Given the description of an element on the screen output the (x, y) to click on. 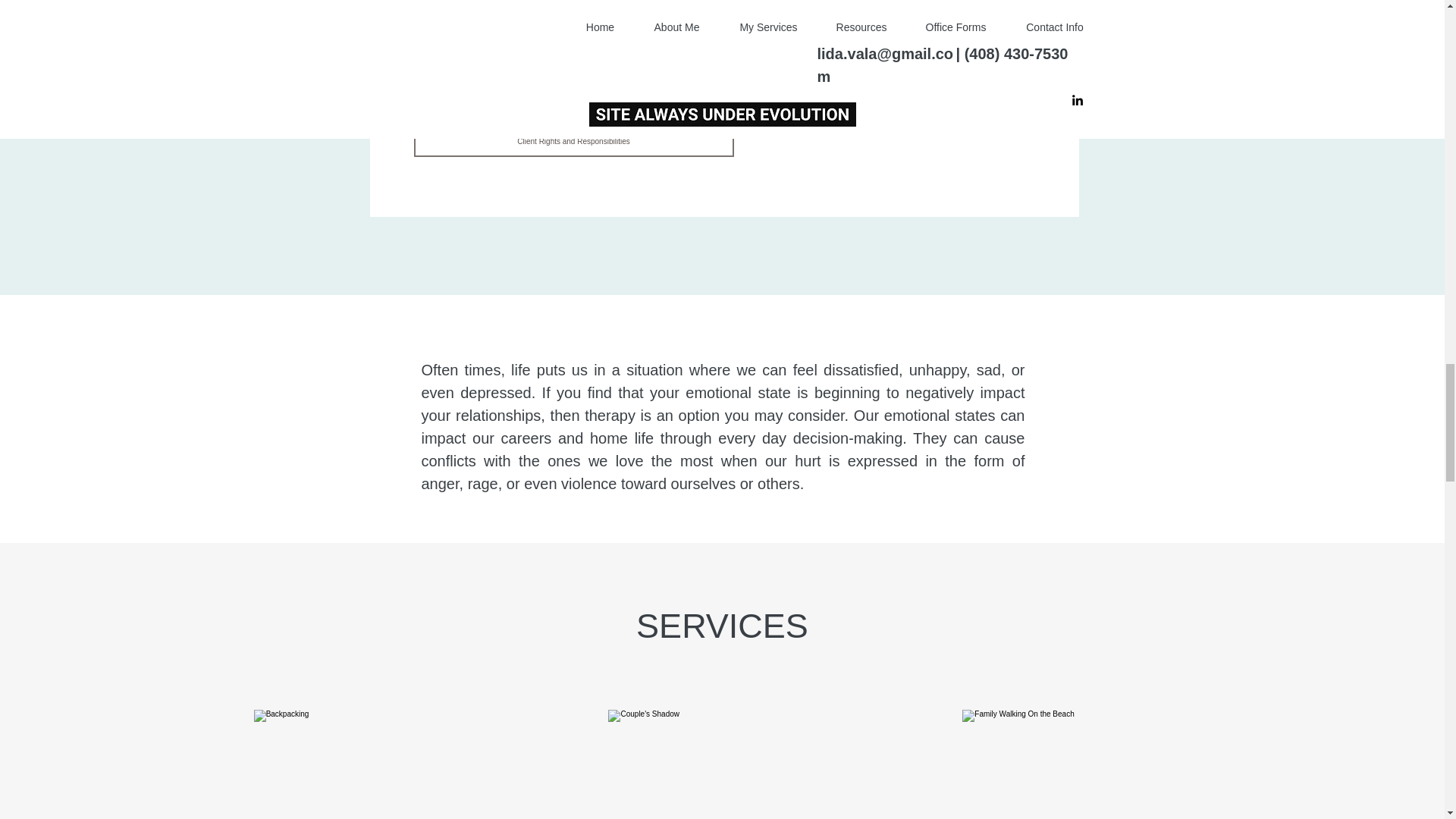
Intake Form (573, 9)
Informed Consent Form (573, 74)
Client Rights and Responsibilities (573, 141)
